Given the description of an element on the screen output the (x, y) to click on. 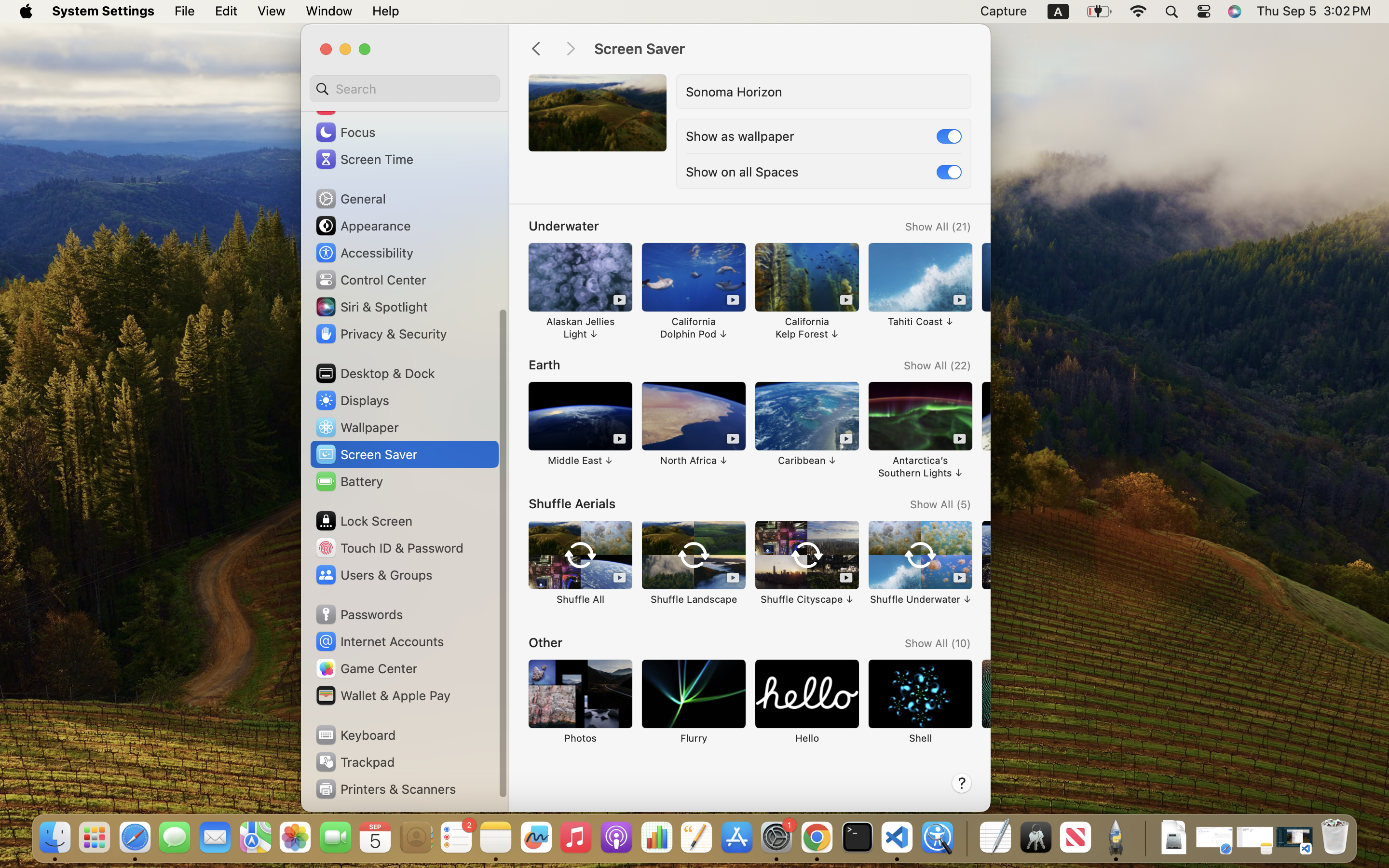
Desktop & Dock Element type: AXStaticText (374, 372)
Sound Element type: AXStaticText (346, 104)
Control Center Element type: AXStaticText (370, 279)
Underwater Element type: AXStaticText (563, 225)
Focus Element type: AXStaticText (344, 131)
